Given the description of an element on the screen output the (x, y) to click on. 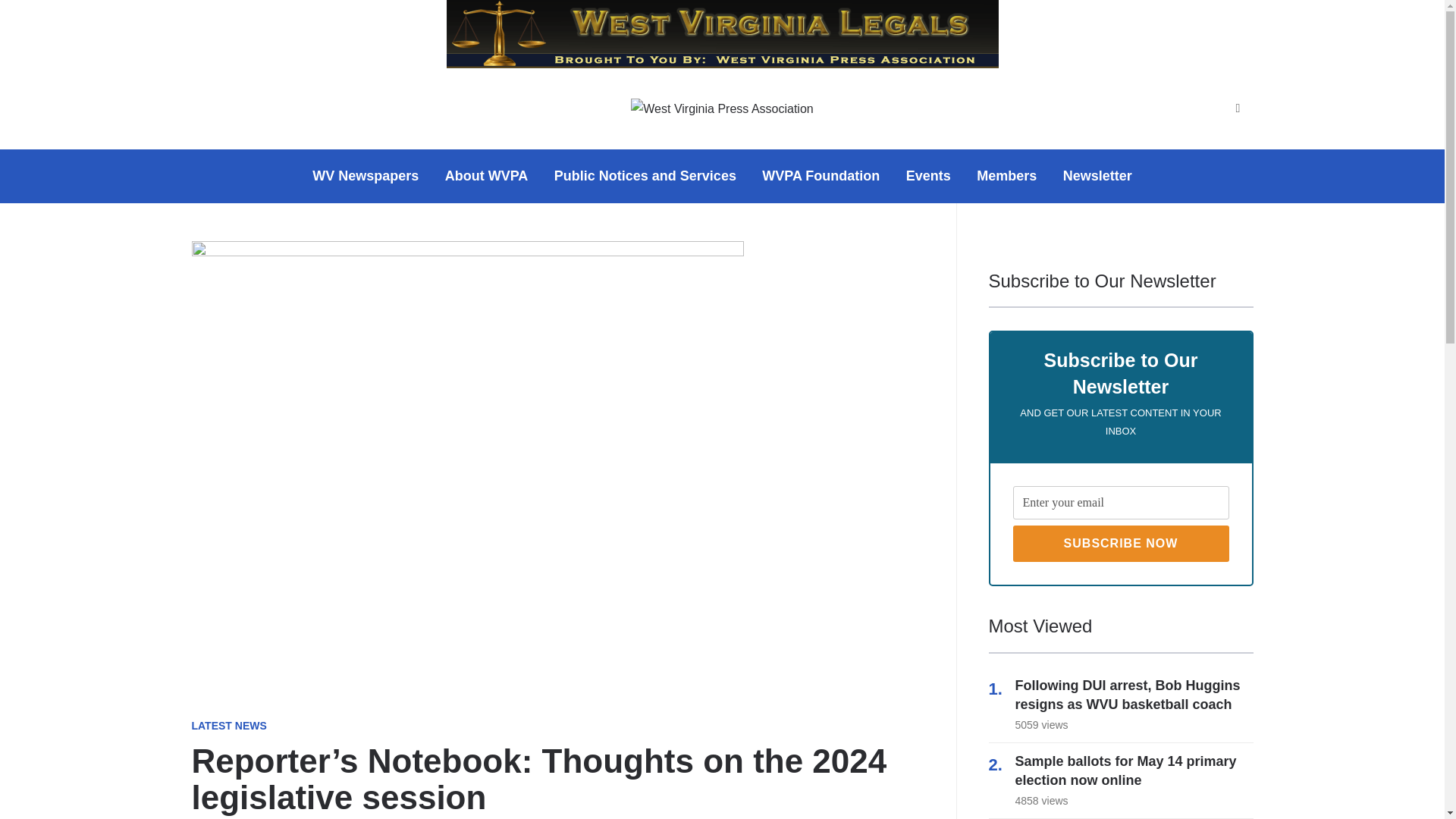
Subscribe Now (1120, 543)
Public Notices and Services (645, 176)
WV Newspapers (366, 176)
Search (1237, 109)
About WVPA (486, 176)
